Given the description of an element on the screen output the (x, y) to click on. 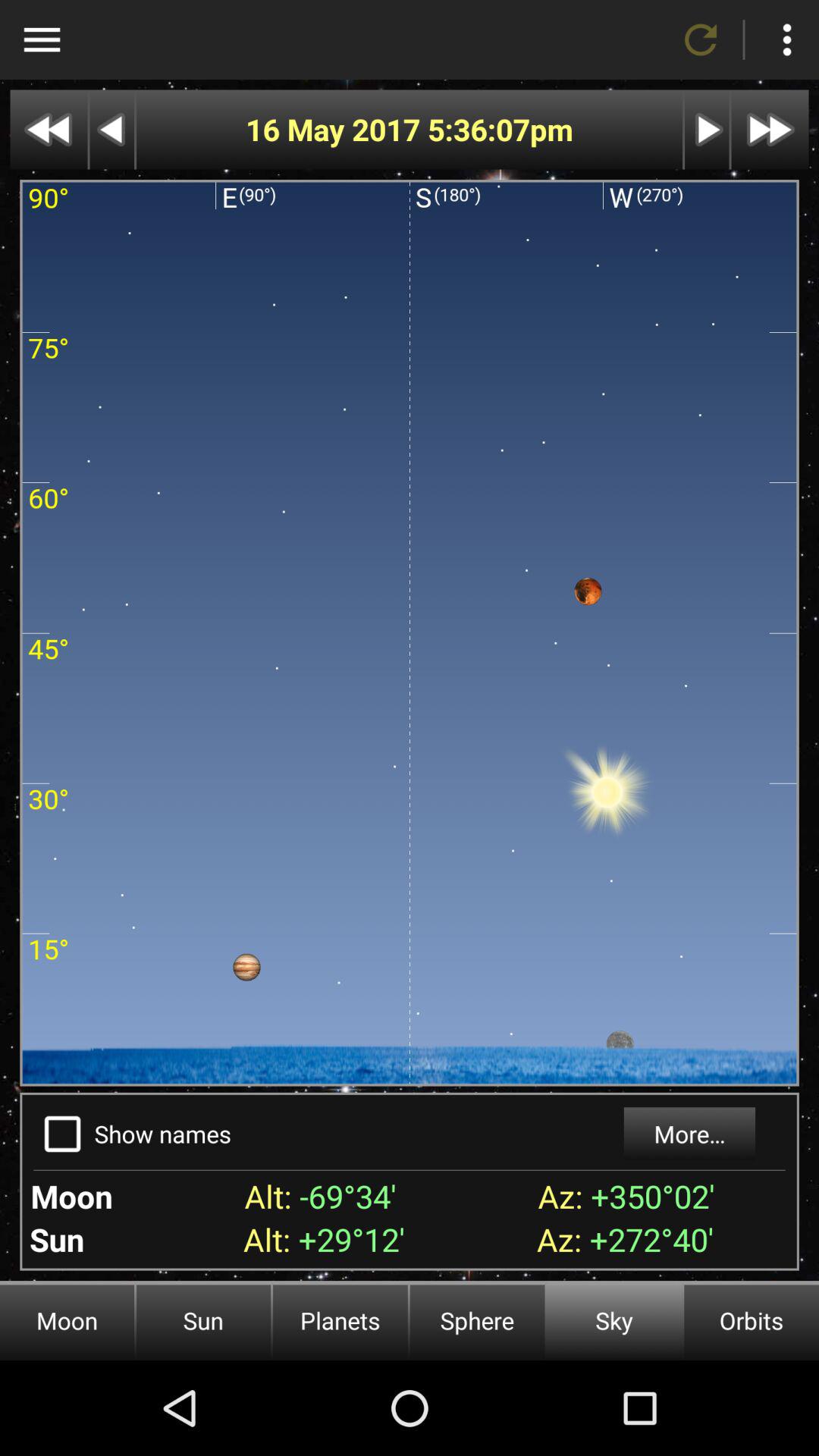
refresh screen (700, 39)
